Given the description of an element on the screen output the (x, y) to click on. 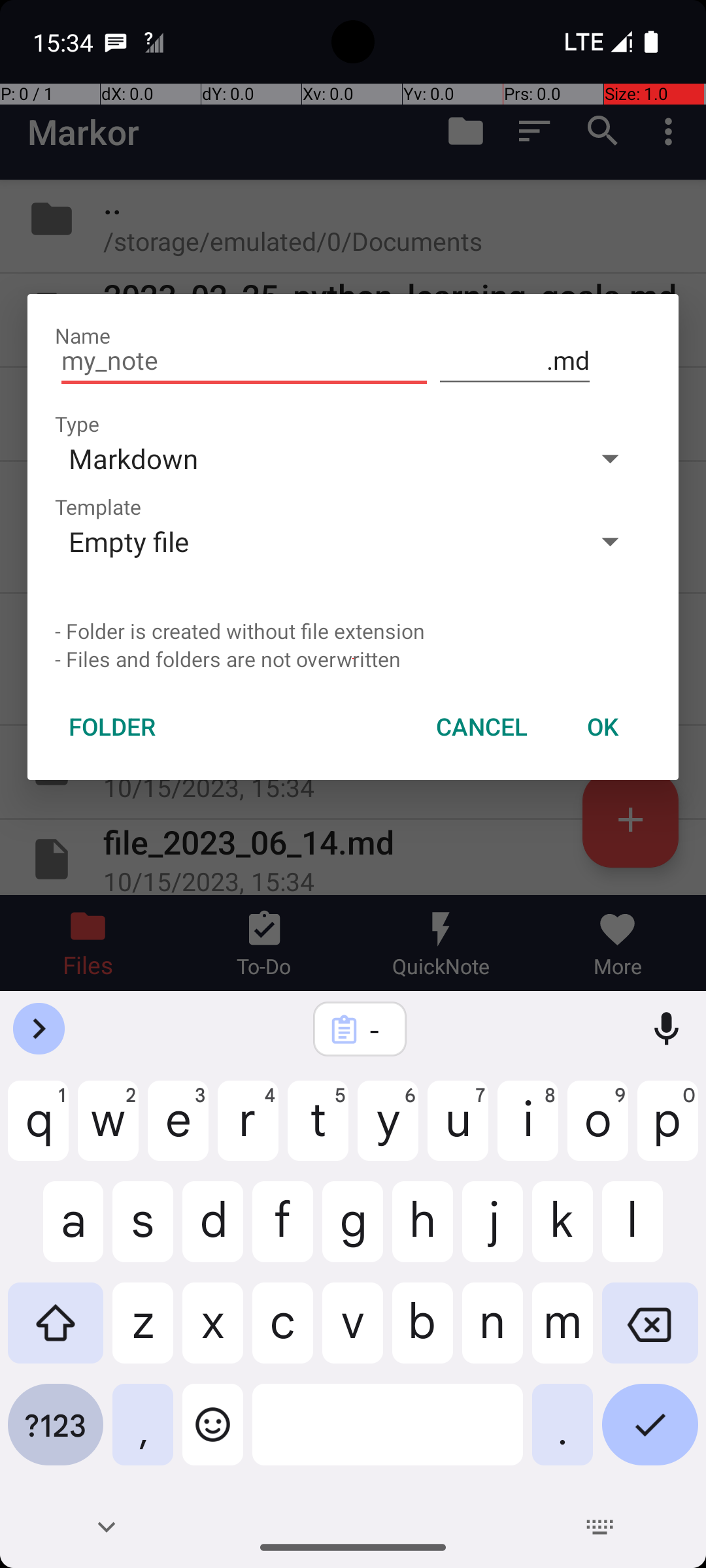
-  Element type: android.widget.TextView (376, 1029)
